Given the description of an element on the screen output the (x, y) to click on. 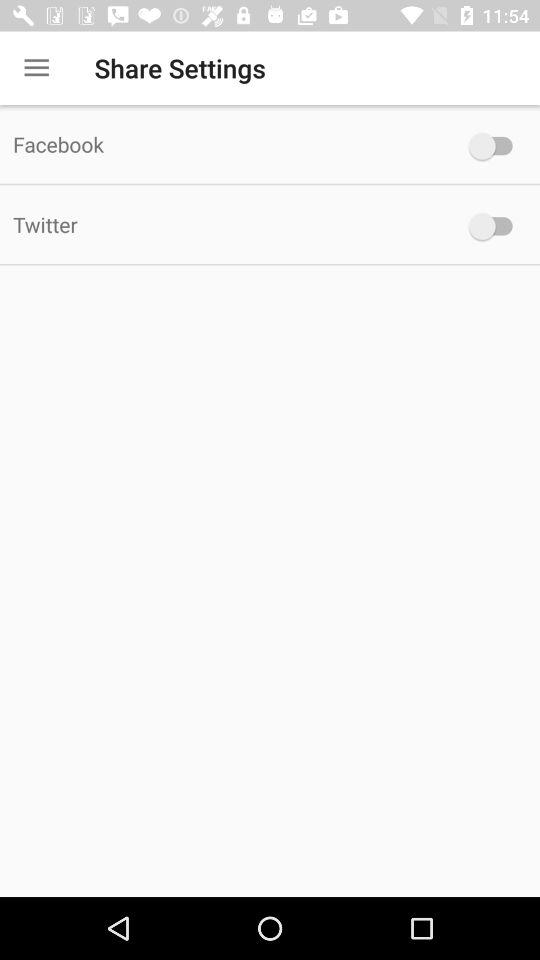
launch the item to the left of share settings item (36, 68)
